Given the description of an element on the screen output the (x, y) to click on. 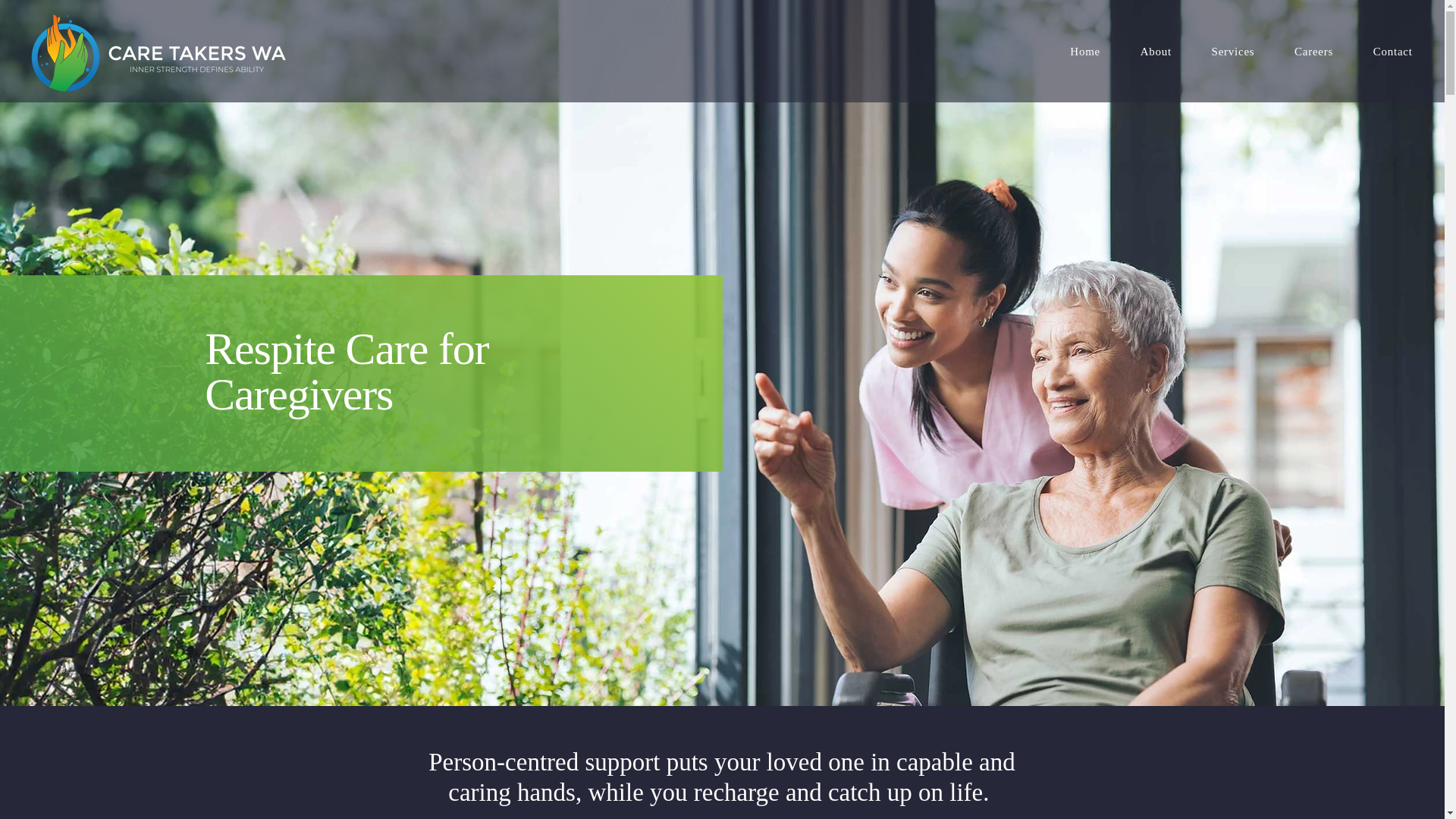
About (1155, 51)
Careers (1314, 51)
Home (1084, 51)
Contact (1392, 51)
Services (1232, 51)
